Given the description of an element on the screen output the (x, y) to click on. 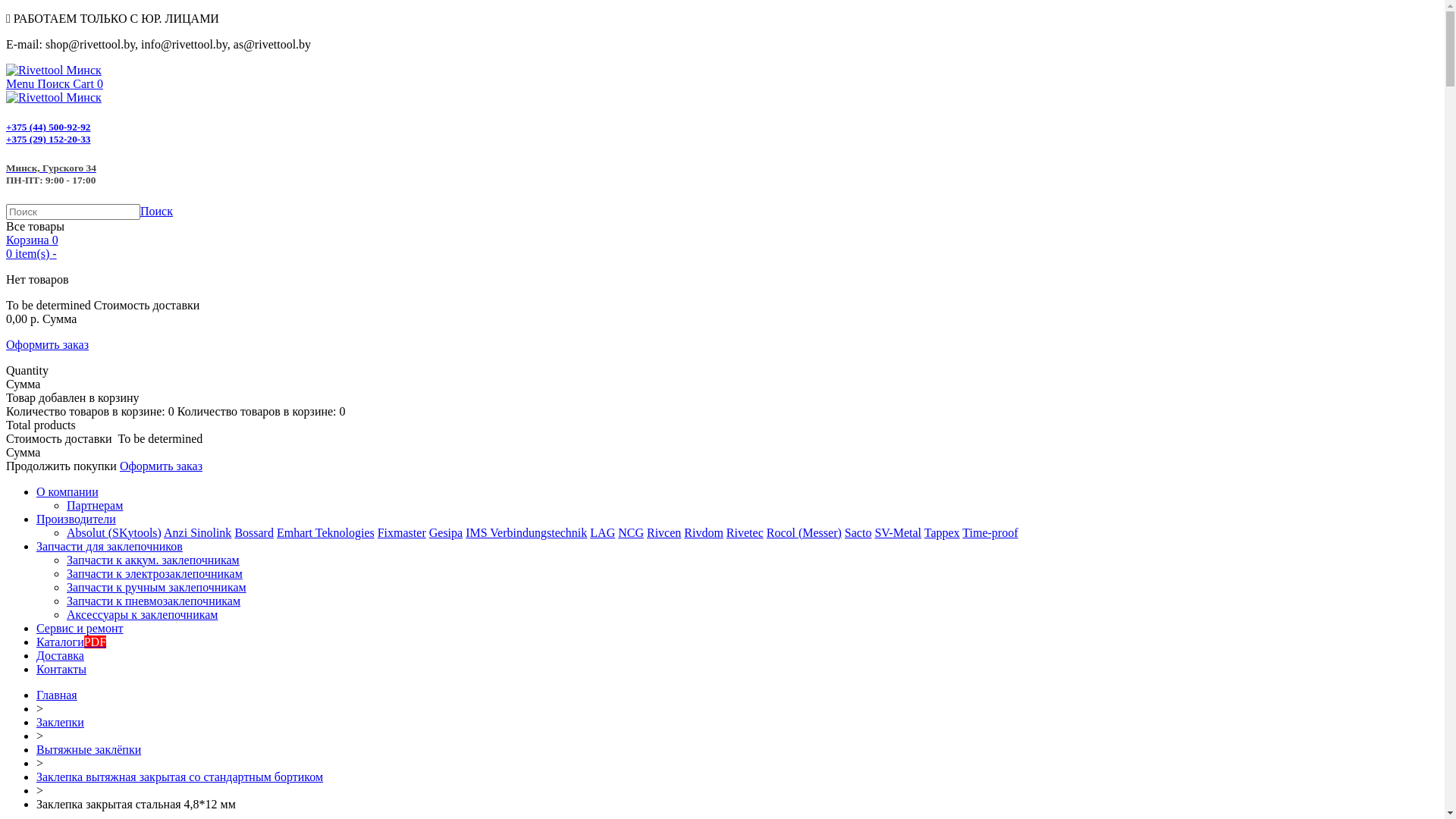
SV-Metal Element type: text (897, 532)
+375 (44) 500-92-92 Element type: text (48, 126)
+375 (29) 152-20-33 Element type: text (48, 138)
Anzi Sinolink Element type: text (197, 532)
Rivdom Element type: text (703, 532)
Rivetec Element type: text (744, 532)
Rocol (Messer) Element type: text (803, 532)
Rivcen Element type: text (663, 532)
IMS Verbindungstechnik Element type: text (525, 532)
NCG Element type: text (630, 532)
Time-proof Element type: text (989, 532)
Fixmaster Element type: text (401, 532)
Emhart Teknologies Element type: text (325, 532)
Gesipa Element type: text (445, 532)
Absolut (SKytools) Element type: text (113, 532)
Sacto Element type: text (858, 532)
Bossard Element type: text (253, 532)
Menu Element type: text (21, 83)
LAG Element type: text (602, 532)
Cart 0 Element type: text (87, 83)
Tappex Element type: text (942, 532)
